Given the description of an element on the screen output the (x, y) to click on. 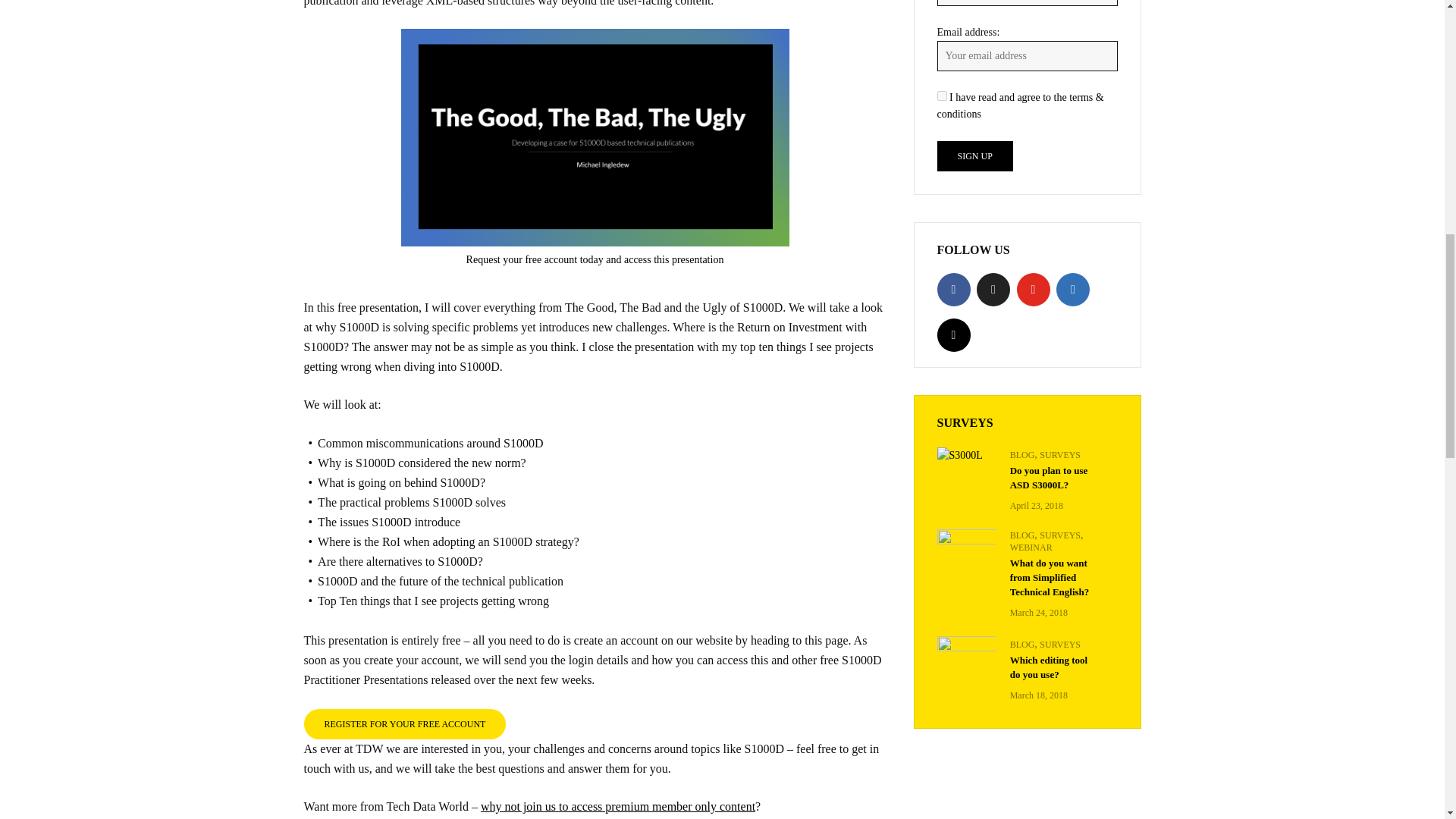
Instagram (954, 335)
why not join us to access premium member only content (617, 806)
Sign up (975, 155)
REGISTER FOR YOUR FREE ACCOUNT (403, 723)
1 (942, 95)
Which editing tool do you use? (966, 655)
The Good, The Bad, The Ugly of S1000D (594, 137)
Facebook (954, 289)
What do you want from Simplified Technical English? (966, 548)
YouTube (1032, 289)
